Given the description of an element on the screen output the (x, y) to click on. 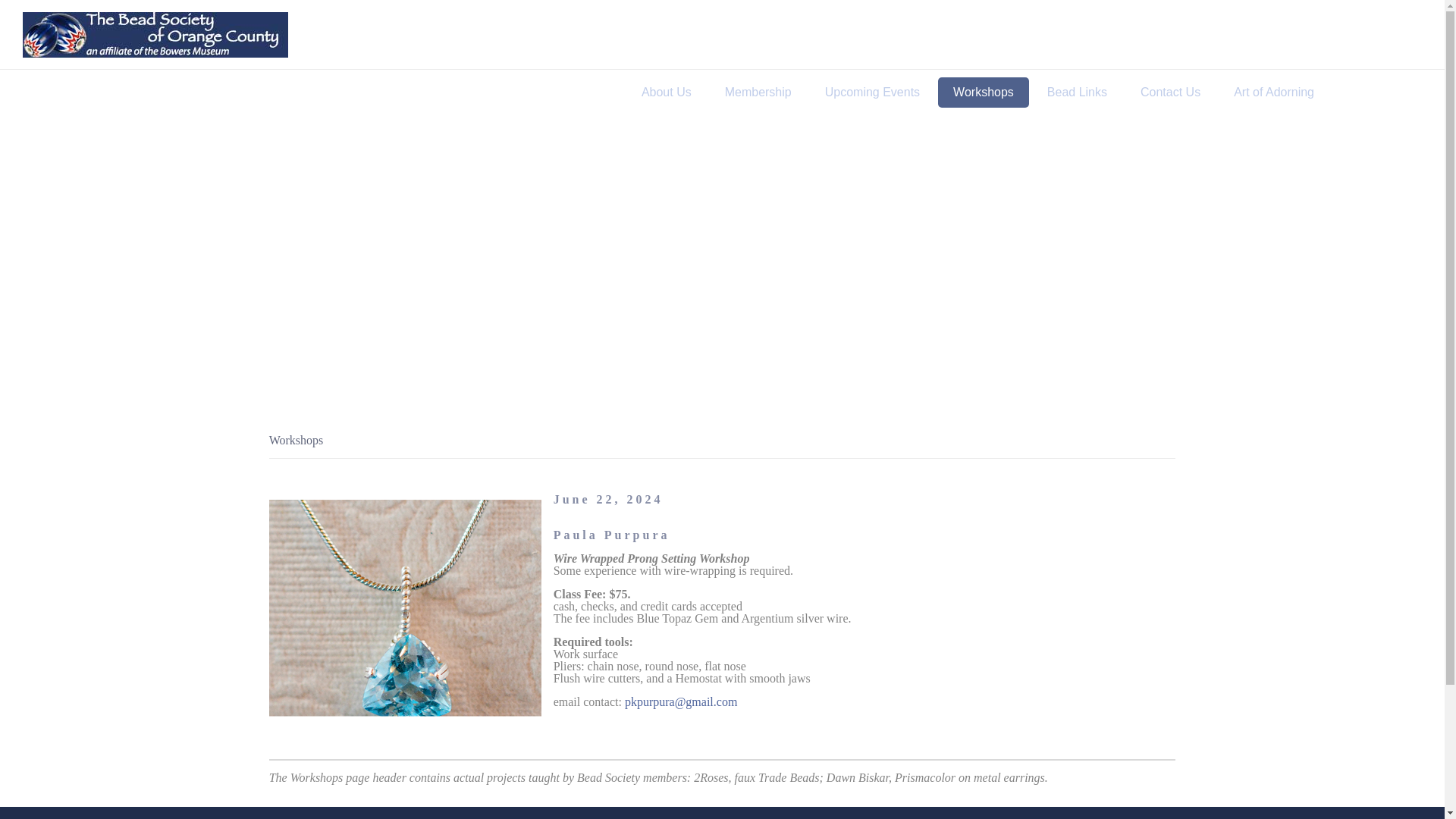
Bead Links (1077, 91)
Art of Adorning (1273, 91)
Workshops (983, 91)
Upcoming Events (871, 91)
Membership (758, 91)
About Us (666, 91)
Contact Us (1170, 91)
